Given the description of an element on the screen output the (x, y) to click on. 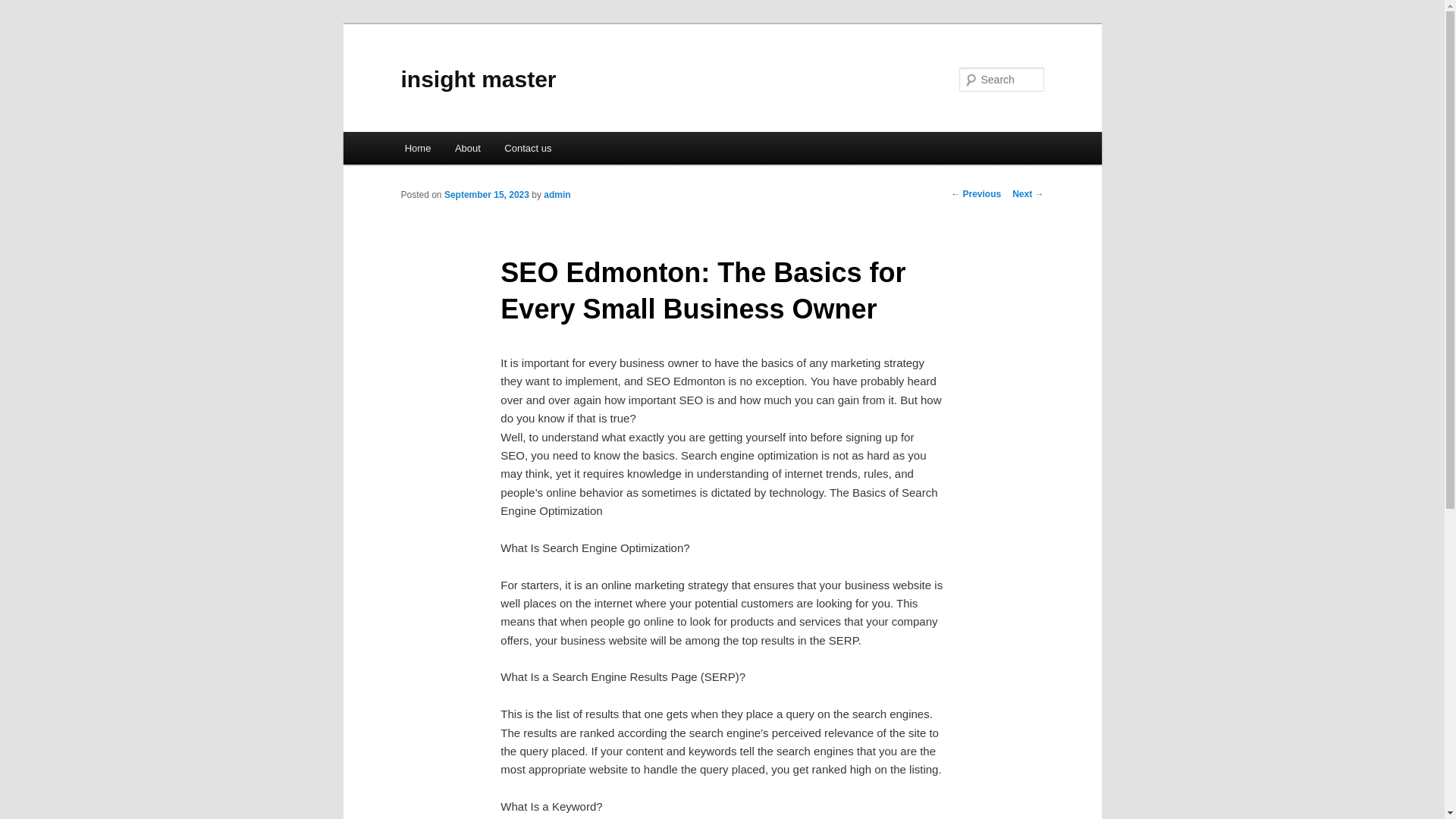
Home (417, 147)
insight master (478, 78)
Home (417, 147)
admin (556, 194)
Contact us (528, 147)
View all posts by admin (556, 194)
Search (24, 8)
September 15, 2023 (486, 194)
About (467, 147)
